Given the description of an element on the screen output the (x, y) to click on. 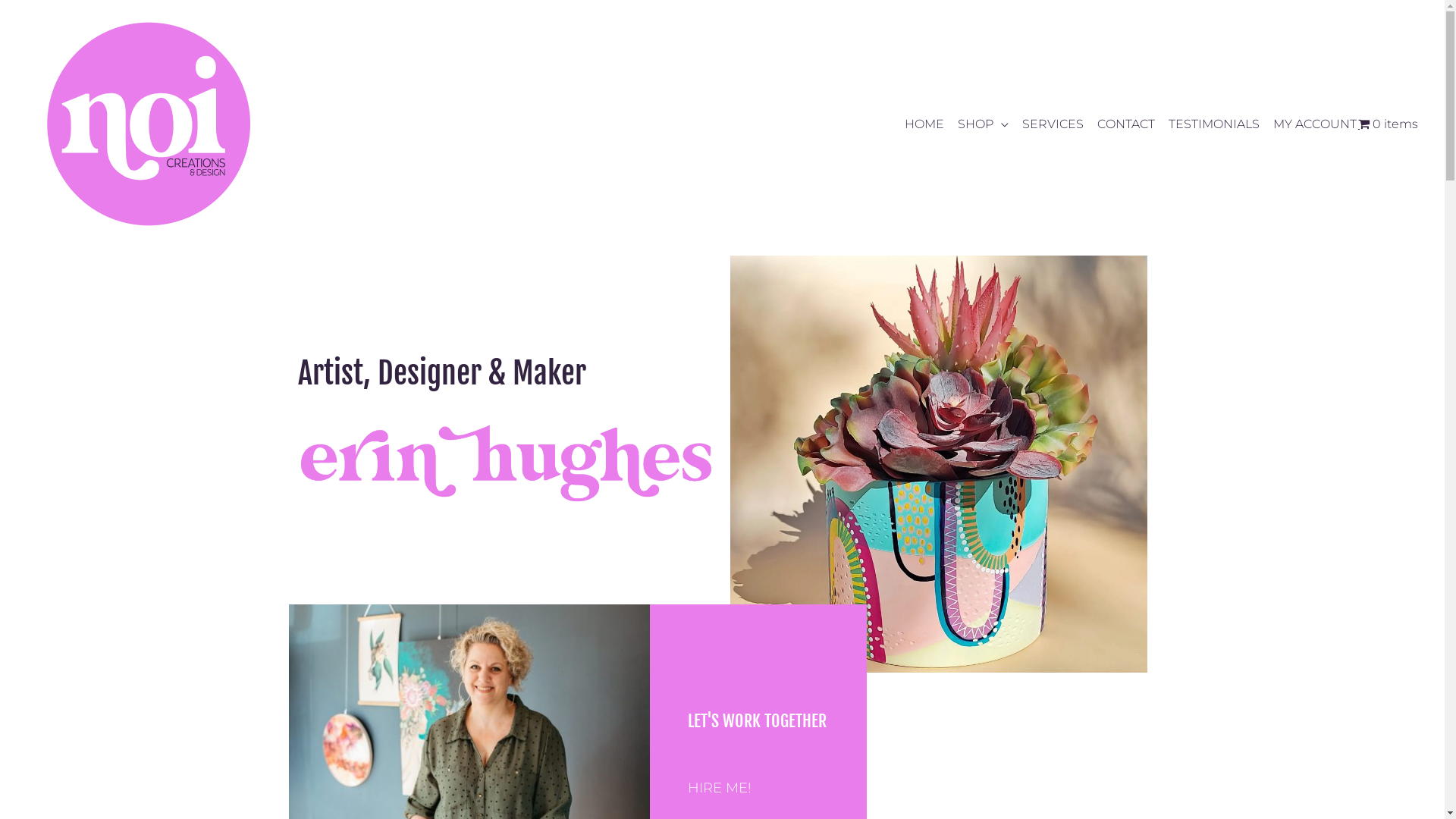
TESTIMONIALS Element type: text (1208, 124)
0 items Element type: text (1388, 123)
SHOP Element type: text (977, 124)
HOME Element type: text (918, 124)
CONTACT Element type: text (1120, 124)
SERVICES Element type: text (1047, 124)
MY ACCOUNT Element type: text (1309, 124)
HIRE ME! Element type: text (719, 787)
